Given the description of an element on the screen output the (x, y) to click on. 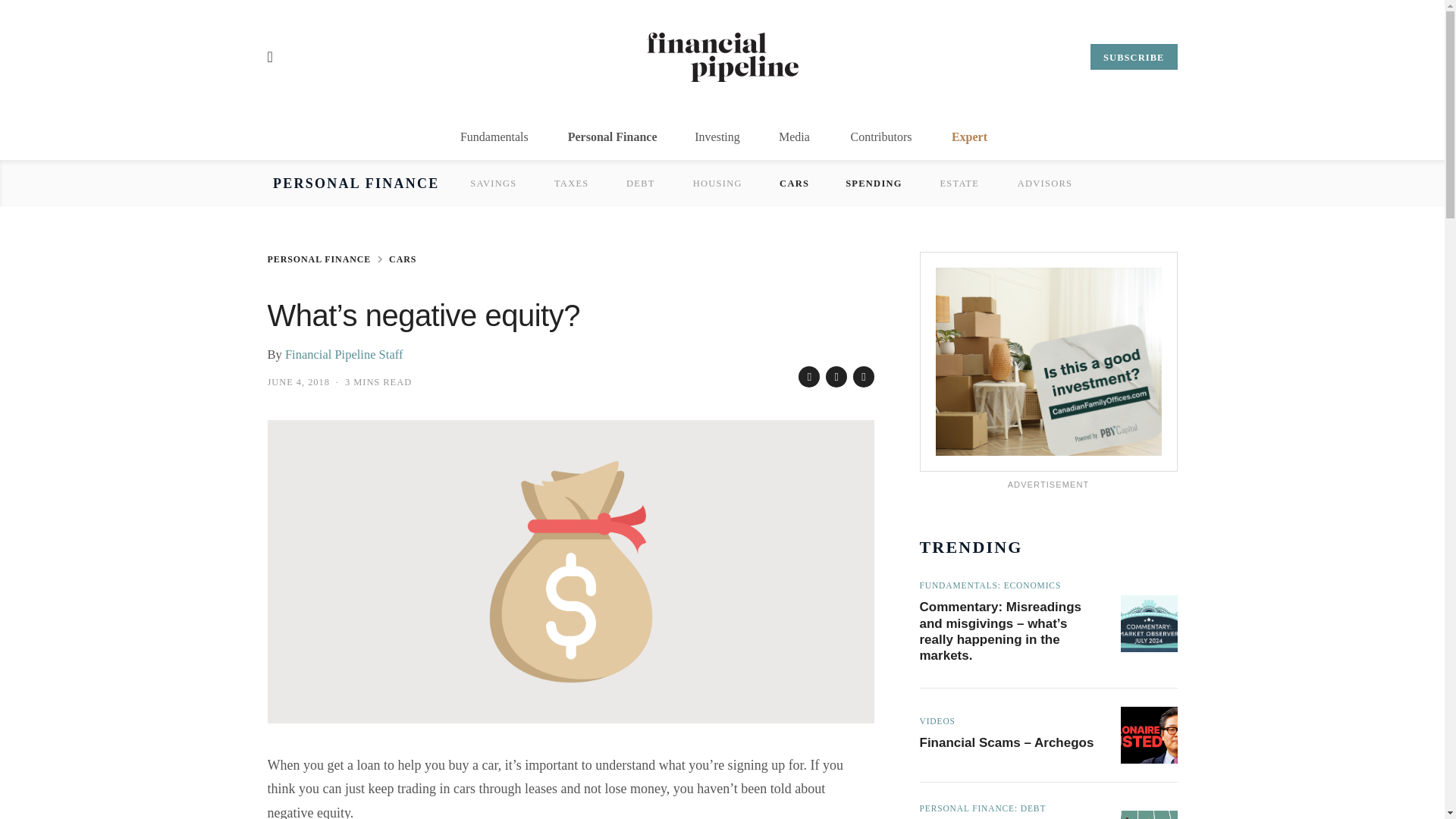
SUBSCRIBE (1133, 56)
Debt (639, 182)
Savings (493, 182)
Economics (736, 182)
Cars (794, 182)
Taxes (571, 182)
Fundamentals (494, 136)
Funds (825, 182)
Stocks (460, 182)
Personal Finance (362, 183)
Housing (716, 182)
Spending (873, 182)
Derivatives (628, 182)
Glossary (900, 182)
Estate (959, 182)
